Given the description of an element on the screen output the (x, y) to click on. 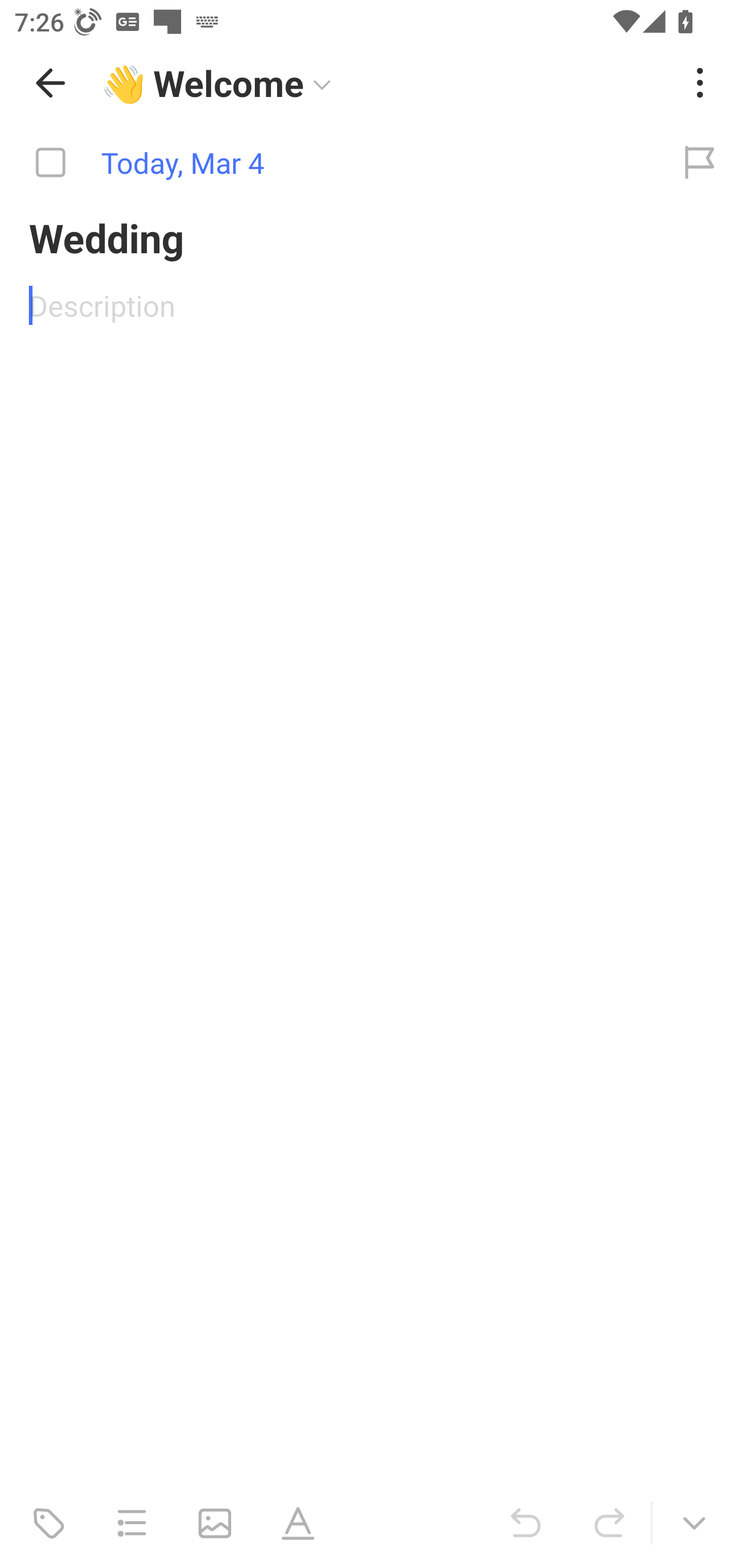
👋 Welcome (384, 82)
Today, Mar 4  (328, 163)
Wedding (371, 237)
Description (371, 304)
